Given the description of an element on the screen output the (x, y) to click on. 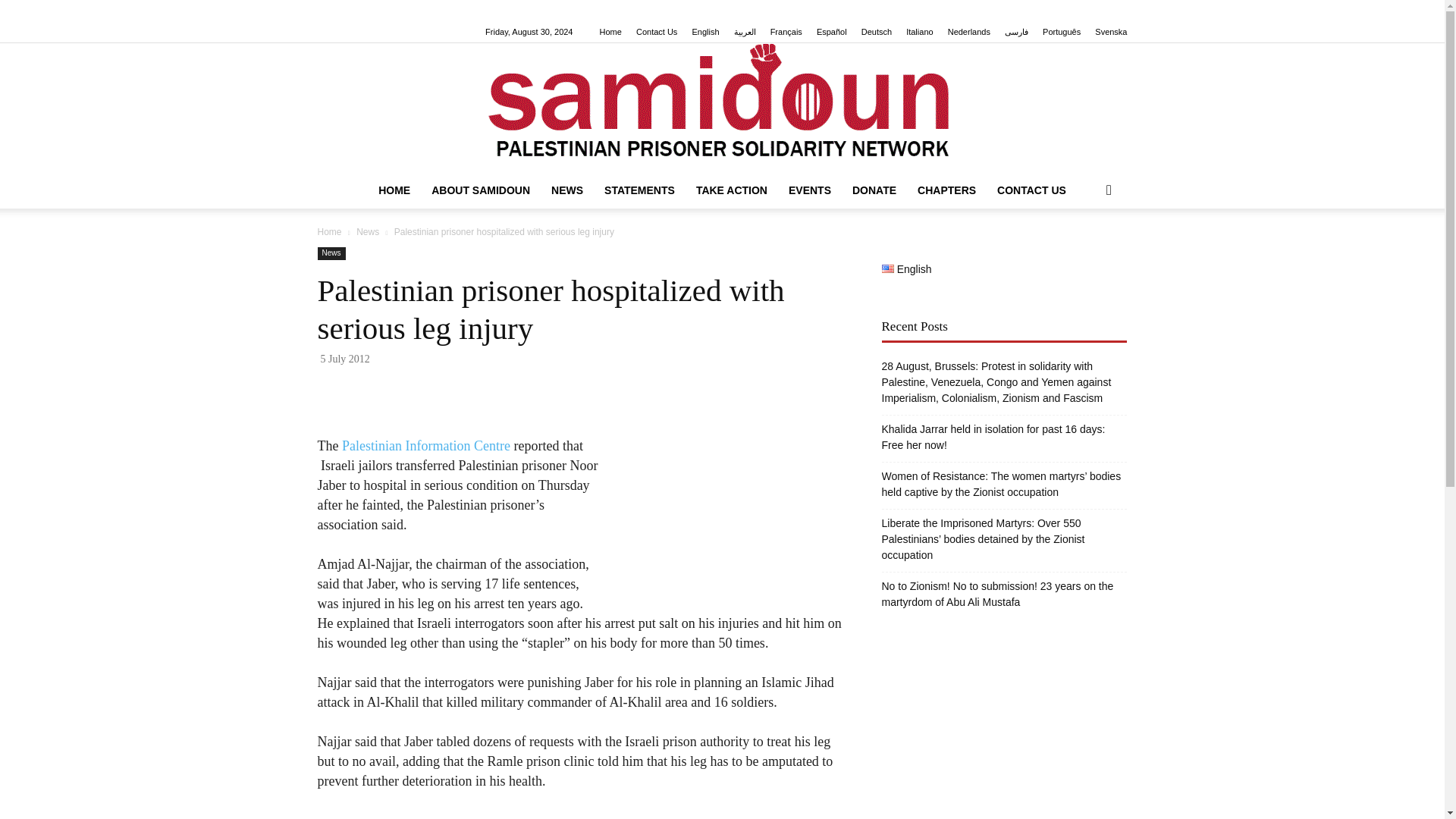
Youtube (478, 10)
Twitter (453, 10)
View all posts in News (367, 231)
Instagram (353, 10)
Telegram (429, 10)
RSS (403, 10)
Facebook (328, 10)
Mail (379, 10)
